Given the description of an element on the screen output the (x, y) to click on. 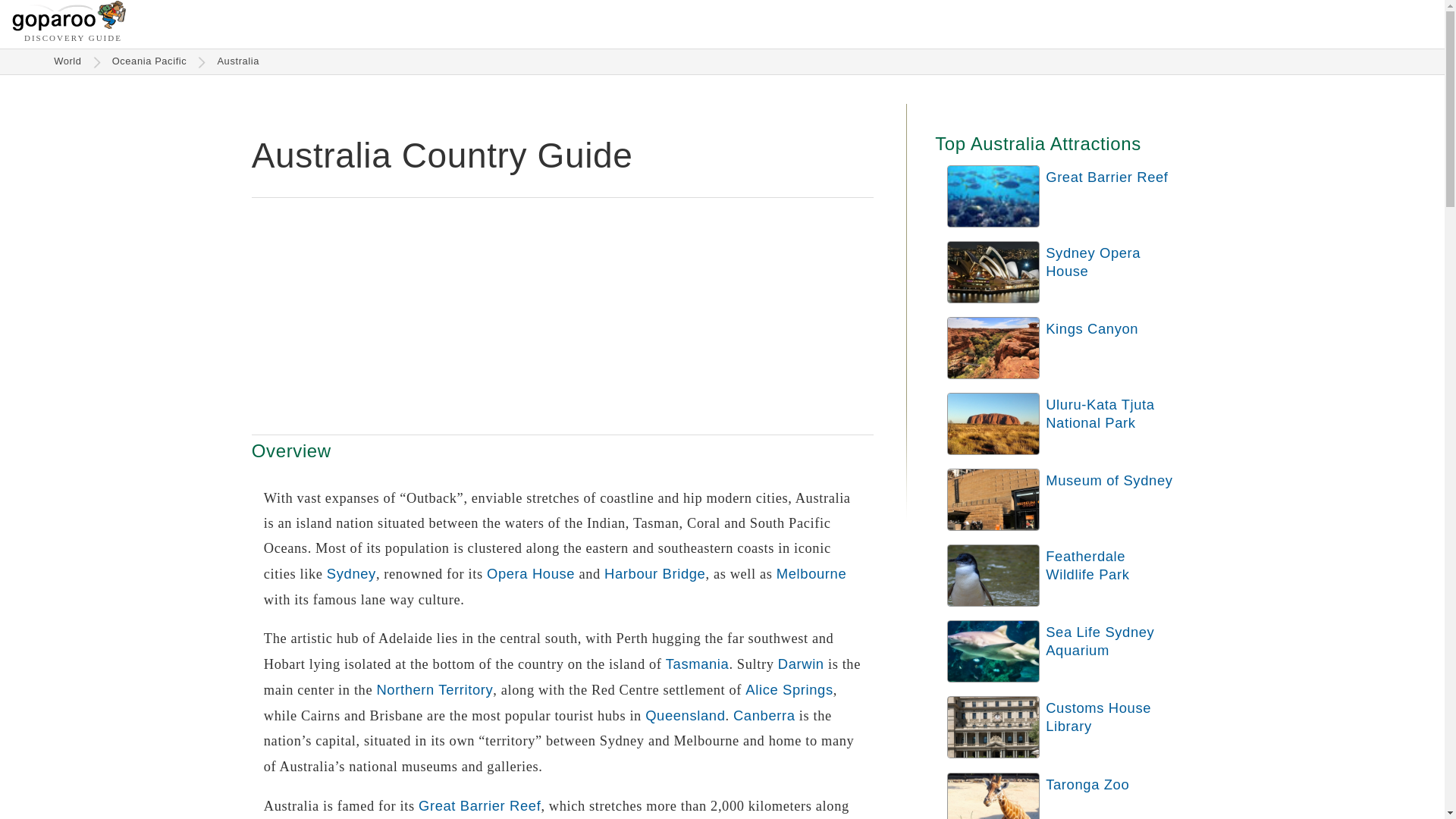
Australia (237, 61)
Sydney (350, 573)
Canberra (763, 715)
Alice Springs (788, 689)
Darwin (800, 663)
Opera House (530, 573)
Tasmania (697, 663)
World (67, 61)
Harbour Bridge (654, 573)
Northern Territory (434, 689)
Melbourne (810, 573)
Oceania Pacific (149, 61)
Queensland (685, 715)
Great Barrier Reef (479, 805)
Advertisement (562, 315)
